Given the description of an element on the screen output the (x, y) to click on. 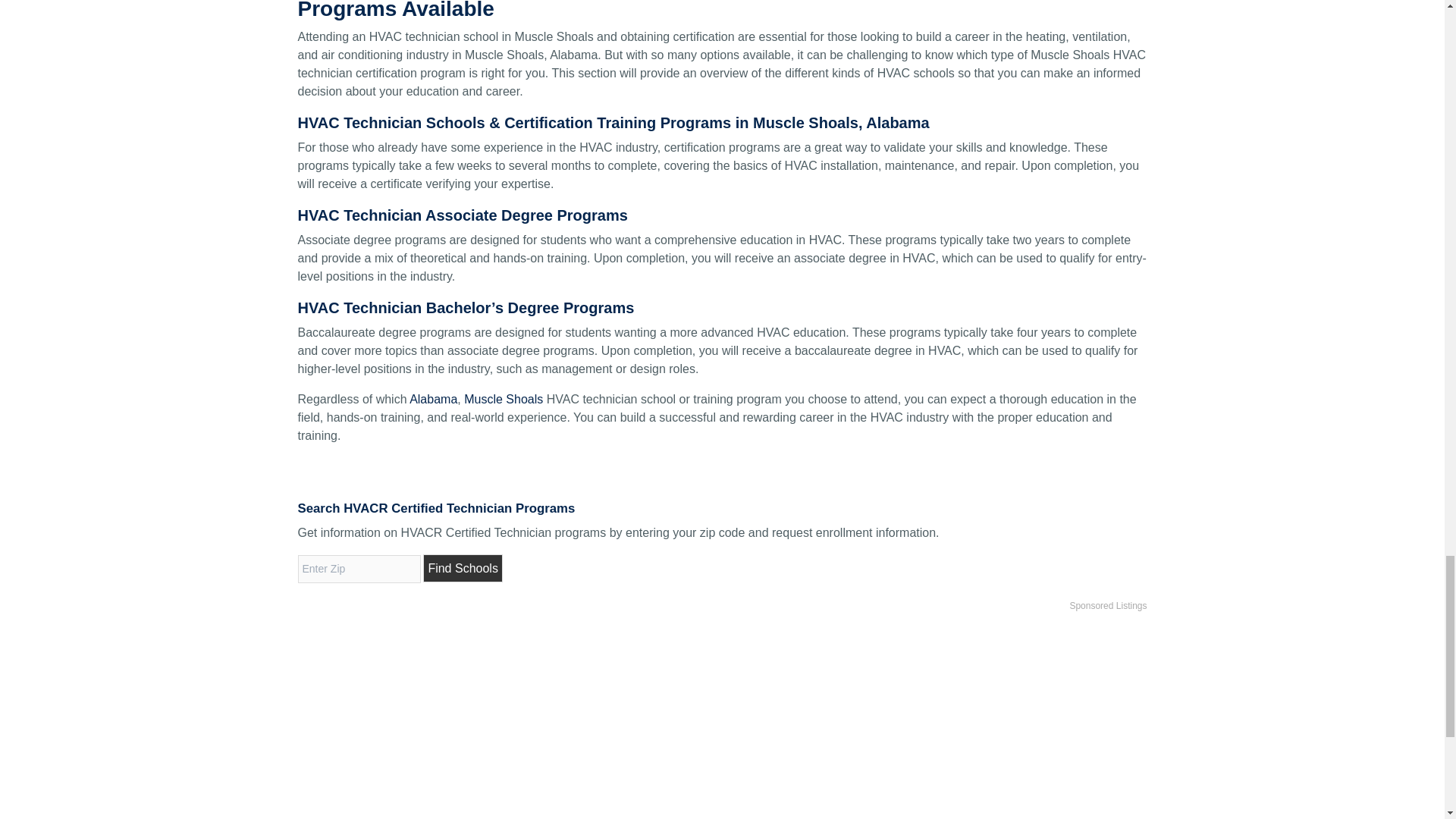
Find Schools (462, 568)
Find Schools (462, 568)
Muscle Shoals (503, 399)
Alabama (433, 399)
